Given the description of an element on the screen output the (x, y) to click on. 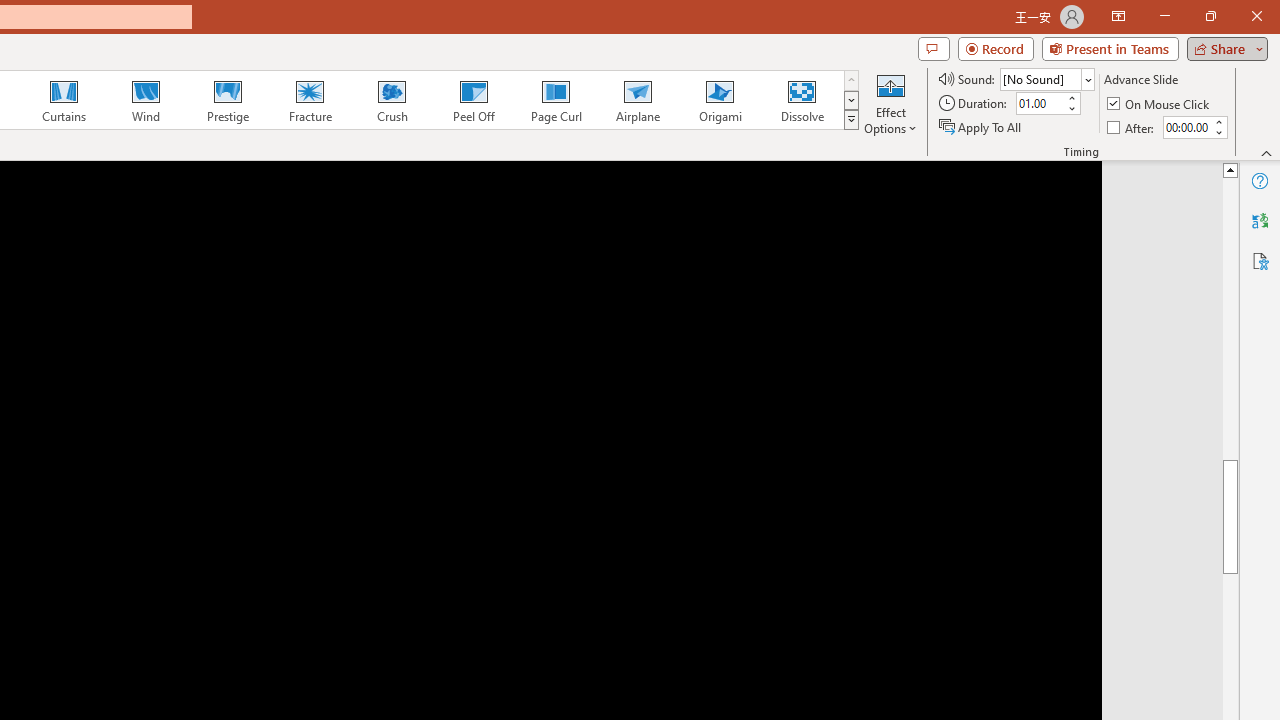
After (1186, 127)
Airplane (637, 100)
Translator (1260, 220)
Origami (719, 100)
Crush (391, 100)
Duration (1039, 103)
